Given the description of an element on the screen output the (x, y) to click on. 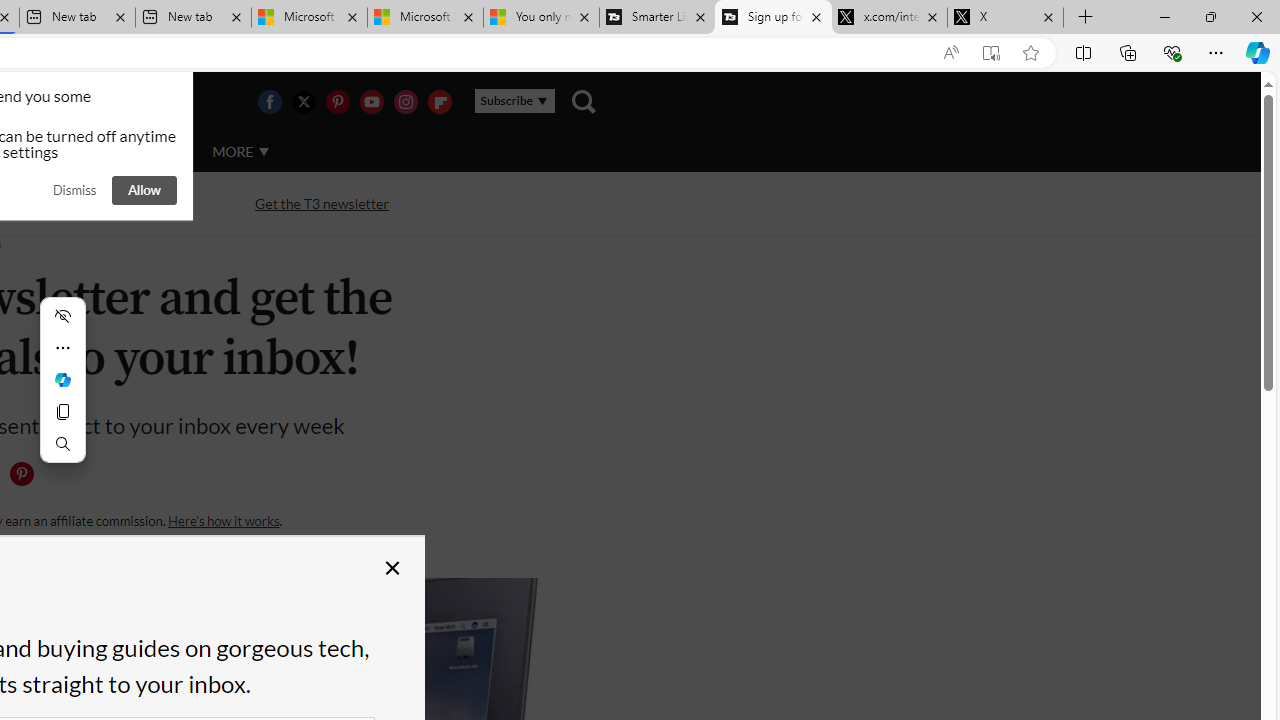
Visit us on Facebook (269, 101)
Close (392, 568)
Copilot (Ctrl+Shift+.) (1258, 52)
Visit us on Pintrest (337, 101)
Visit us on Youtube (371, 101)
New Tab (1085, 17)
Microsoft Start (424, 17)
Streaming TV and movies (105, 204)
Hide menu (62, 315)
Visit us on Instagram (405, 101)
Smarter Living | T3 (657, 17)
Mini menu on text selection (62, 391)
Streaming TV and movies (105, 202)
Dismiss (73, 190)
